Given the description of an element on the screen output the (x, y) to click on. 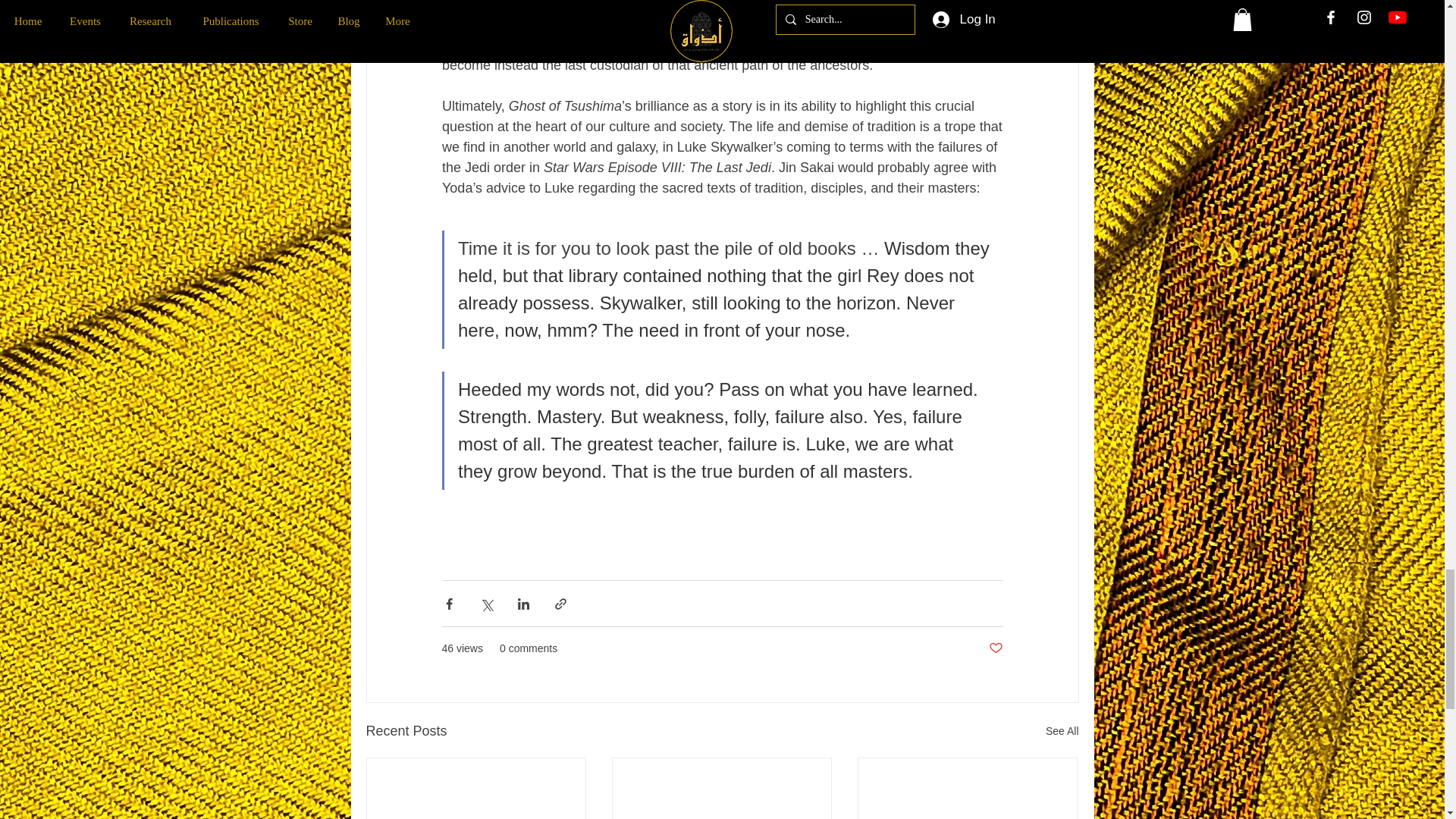
Post not marked as liked (995, 648)
See All (1061, 731)
